Given the description of an element on the screen output the (x, y) to click on. 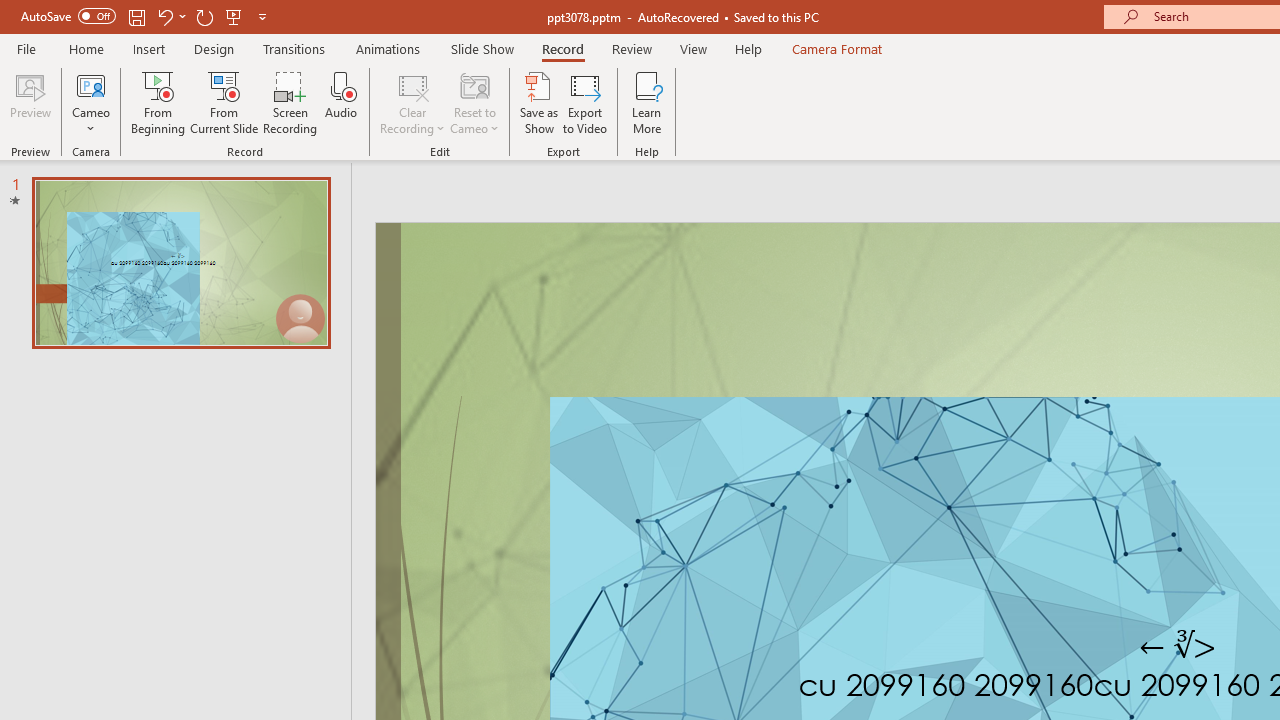
Export to Video (585, 102)
Save as Show (539, 102)
